Given the description of an element on the screen output the (x, y) to click on. 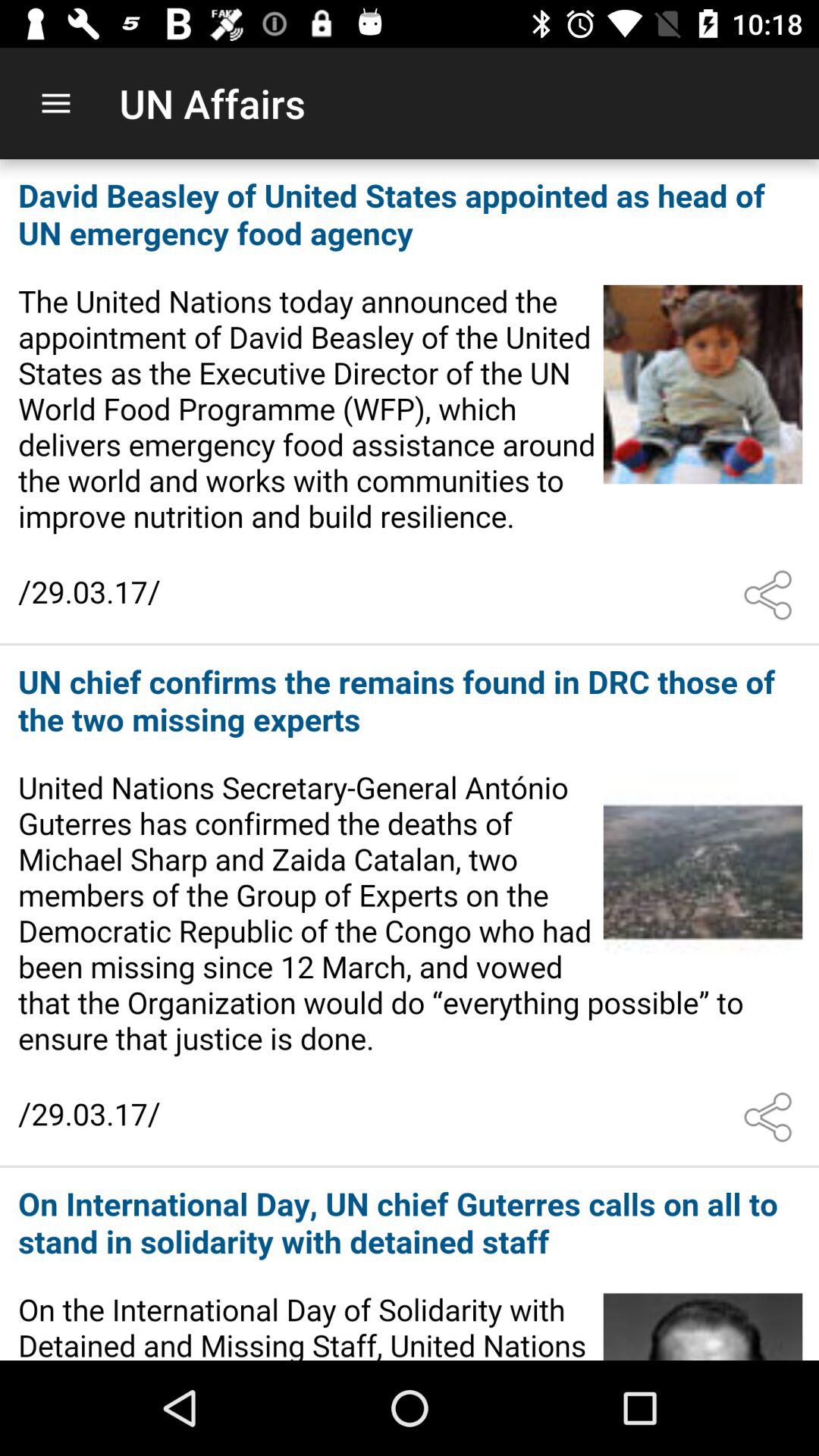
select and read (409, 906)
